Given the description of an element on the screen output the (x, y) to click on. 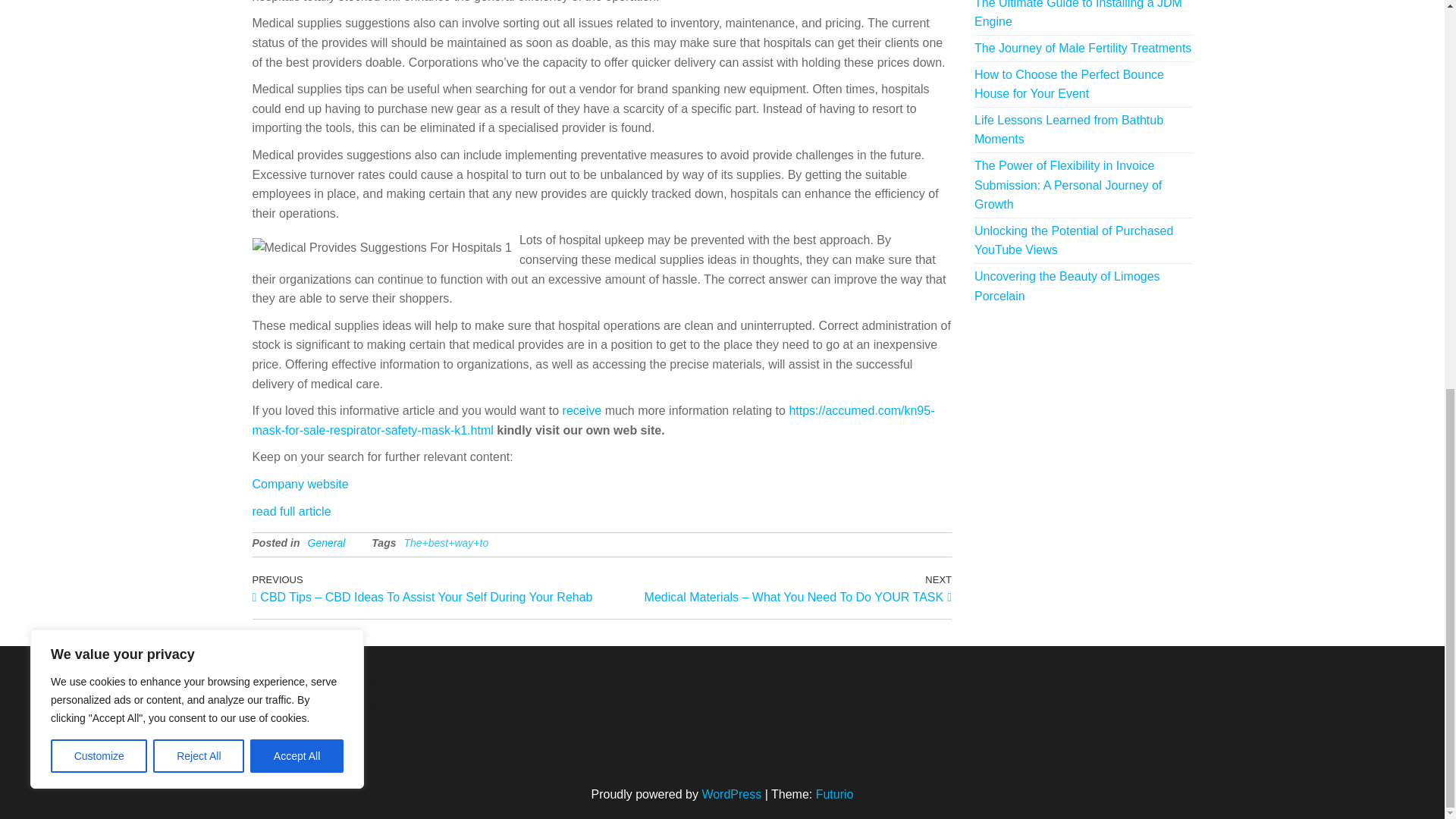
General (326, 542)
Company website (299, 483)
receive (582, 410)
Customize (98, 18)
Accept All (296, 18)
The Ultimate Guide to Installing a JDM Engine (1078, 14)
read full article (290, 510)
Reject All (198, 18)
The Journey of Male Fertility Treatments (1082, 47)
